Given the description of an element on the screen output the (x, y) to click on. 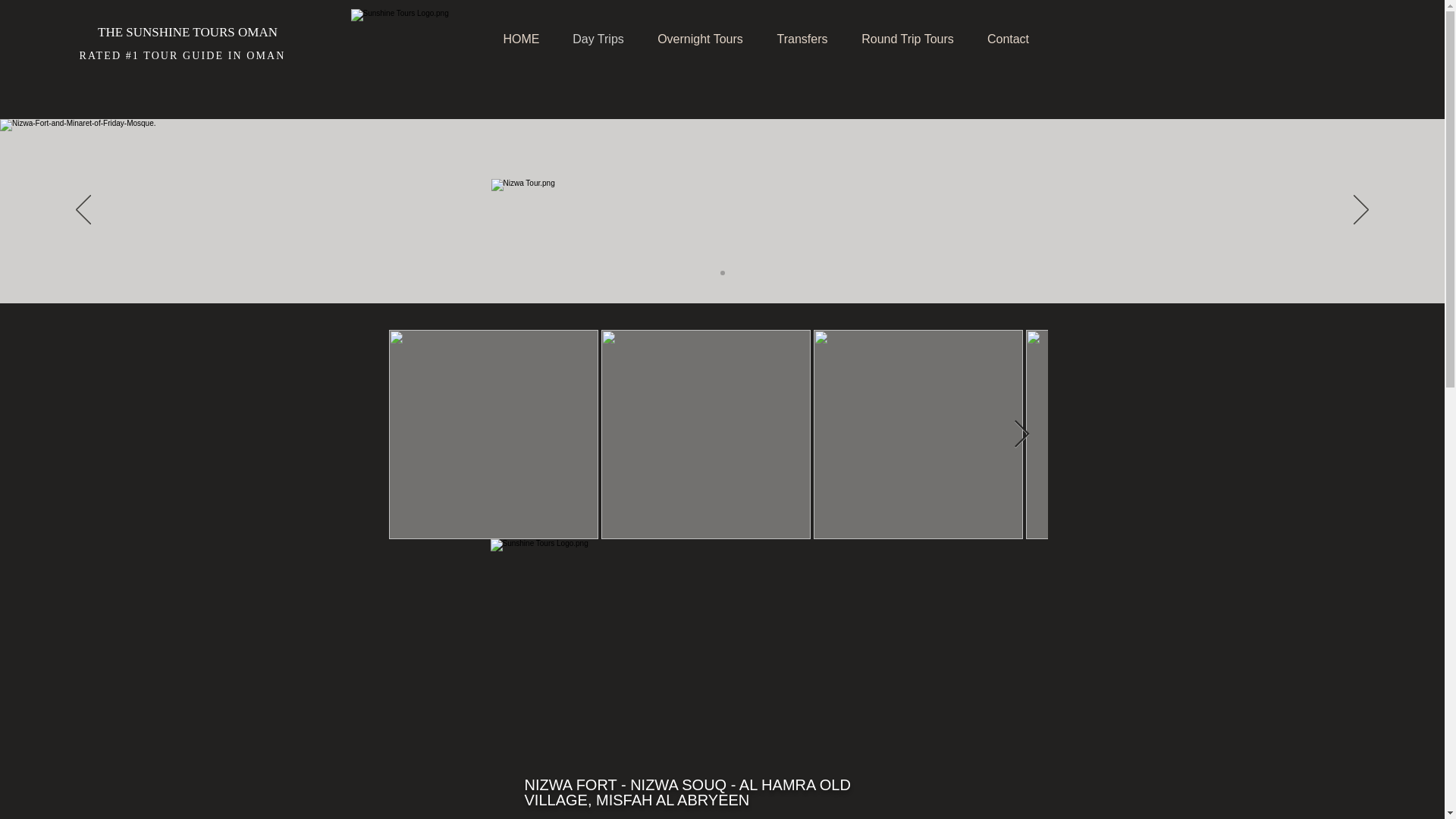
THE SUNSHINE TOURS OMAN (187, 32)
Day Trips (597, 39)
Round Trip Tours (906, 39)
Transfers (802, 39)
HOME (520, 39)
Contact (1008, 39)
Overnight Tours (701, 39)
